Given the description of an element on the screen output the (x, y) to click on. 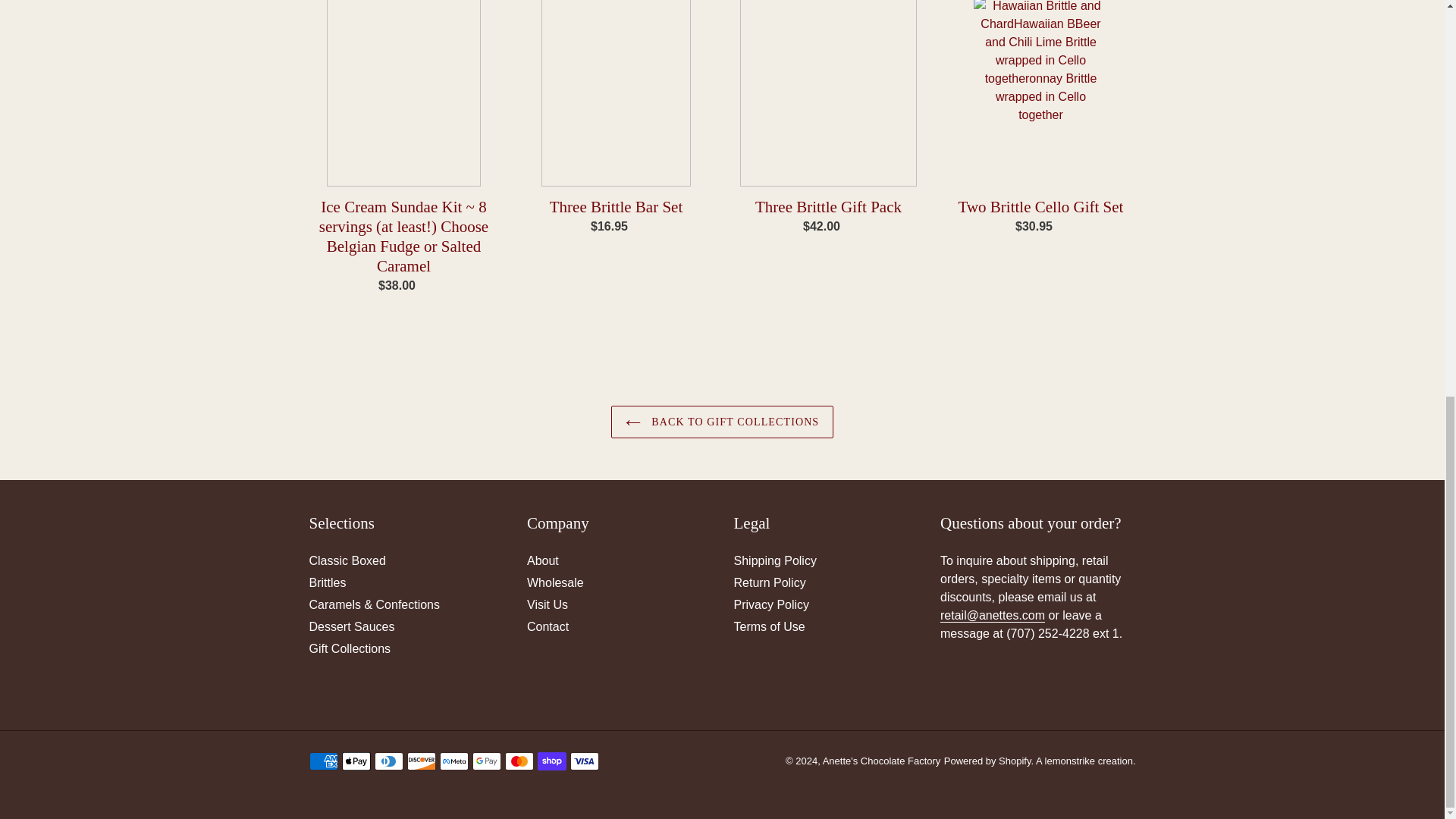
Brittles (327, 582)
BACK TO GIFT COLLECTIONS (722, 421)
Dessert Sauces (351, 626)
Classic Boxed (346, 560)
